Given the description of an element on the screen output the (x, y) to click on. 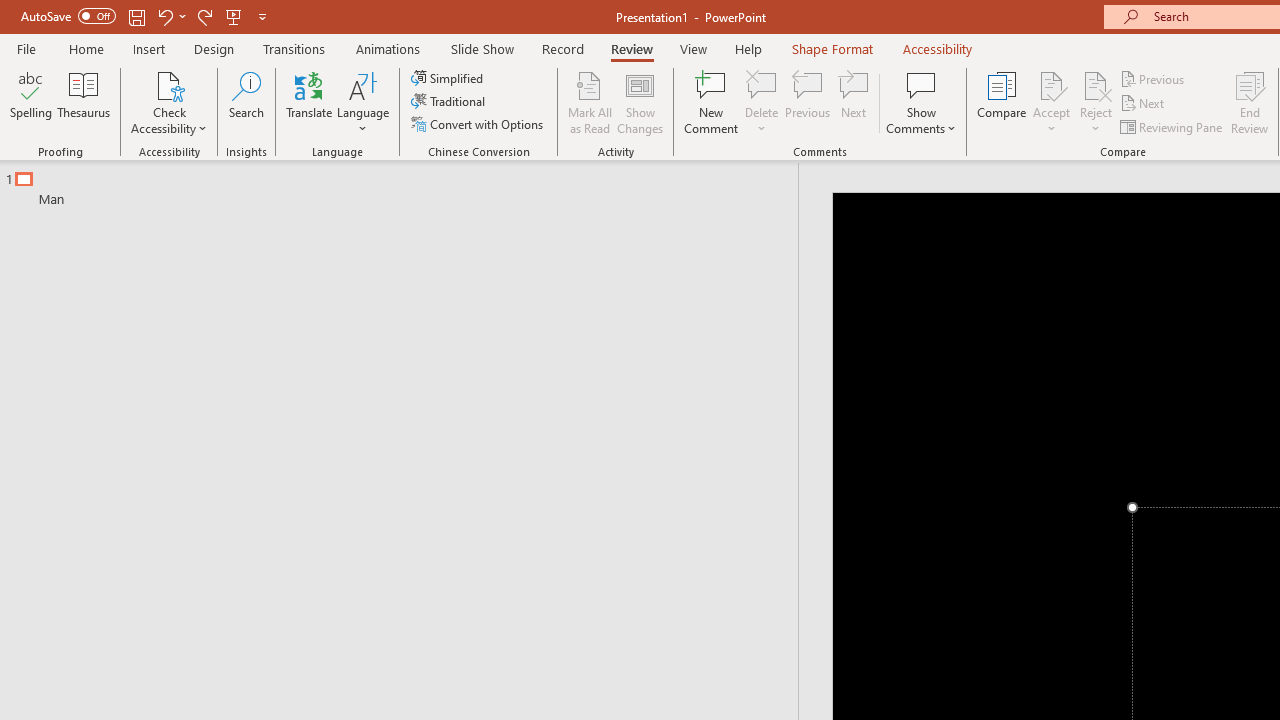
Reject Change (1096, 84)
Show Changes (639, 102)
Thesaurus... (83, 102)
Accept (1051, 102)
Accept Change (1051, 84)
Next (1144, 103)
Language (363, 102)
Convert with Options... (479, 124)
